Given the description of an element on the screen output the (x, y) to click on. 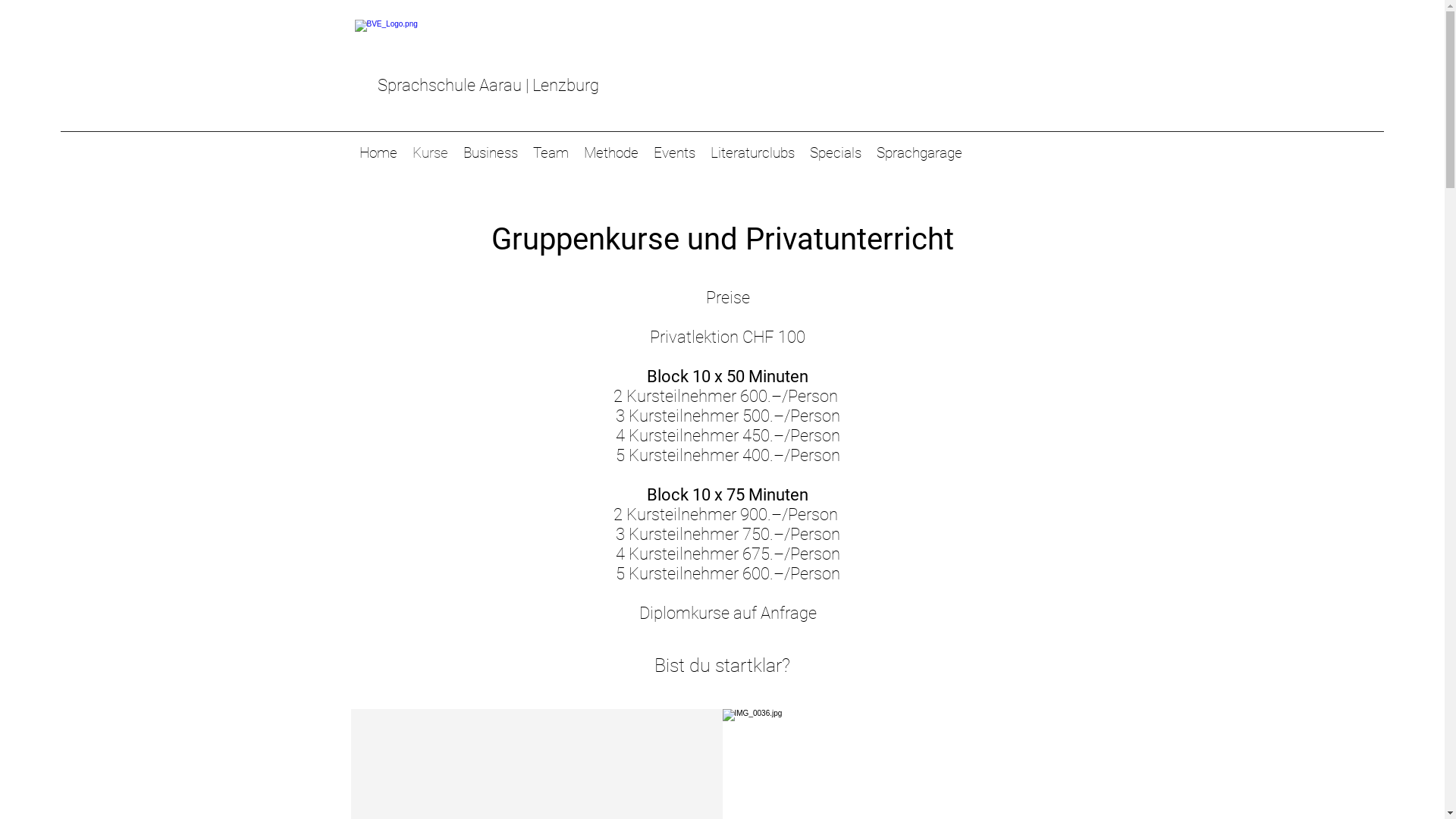
Team Element type: text (549, 152)
Specials Element type: text (835, 152)
Sprachgarage Element type: text (919, 152)
Events Element type: text (674, 152)
Home Element type: text (377, 152)
Sprachschule Aarau | Lenzburg Element type: text (488, 84)
Methode Element type: text (611, 152)
Business Element type: text (489, 152)
Literaturclubs Element type: text (751, 152)
Kurse Element type: text (429, 152)
